Given the description of an element on the screen output the (x, y) to click on. 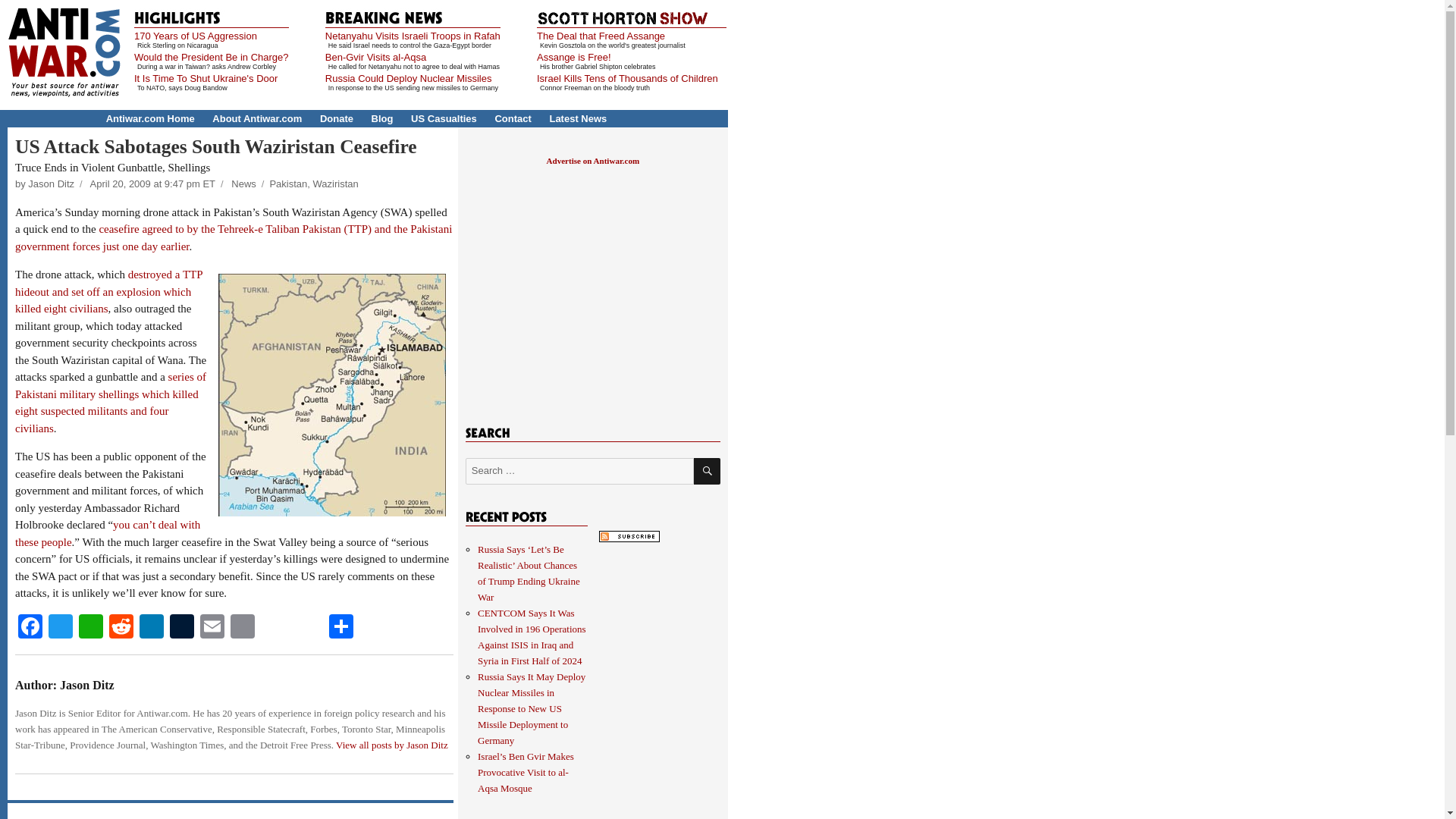
Facebook (29, 628)
About Antiwar.com (256, 118)
Netanyahu Visits Israeli Troops in Rafah (412, 35)
LinkedIn (151, 628)
Tumblr (181, 628)
Print (242, 628)
Facebook (29, 628)
Pakistan (288, 183)
Tumblr (181, 628)
Assange is Free! (574, 57)
Reddit (121, 628)
Twitter (60, 628)
US Casualties (443, 118)
Print (242, 628)
